Given the description of an element on the screen output the (x, y) to click on. 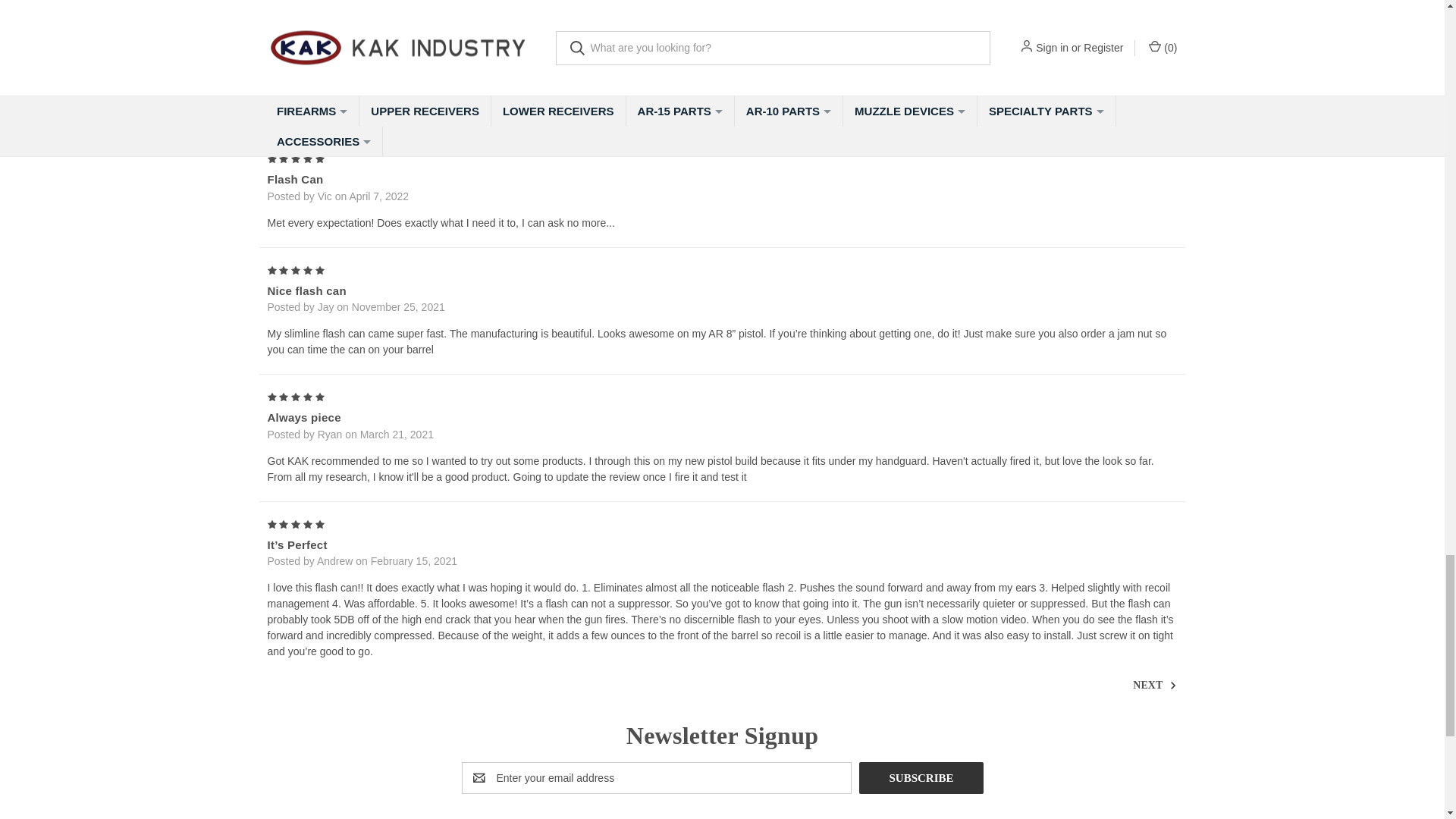
Subscribe (920, 777)
